Given the description of an element on the screen output the (x, y) to click on. 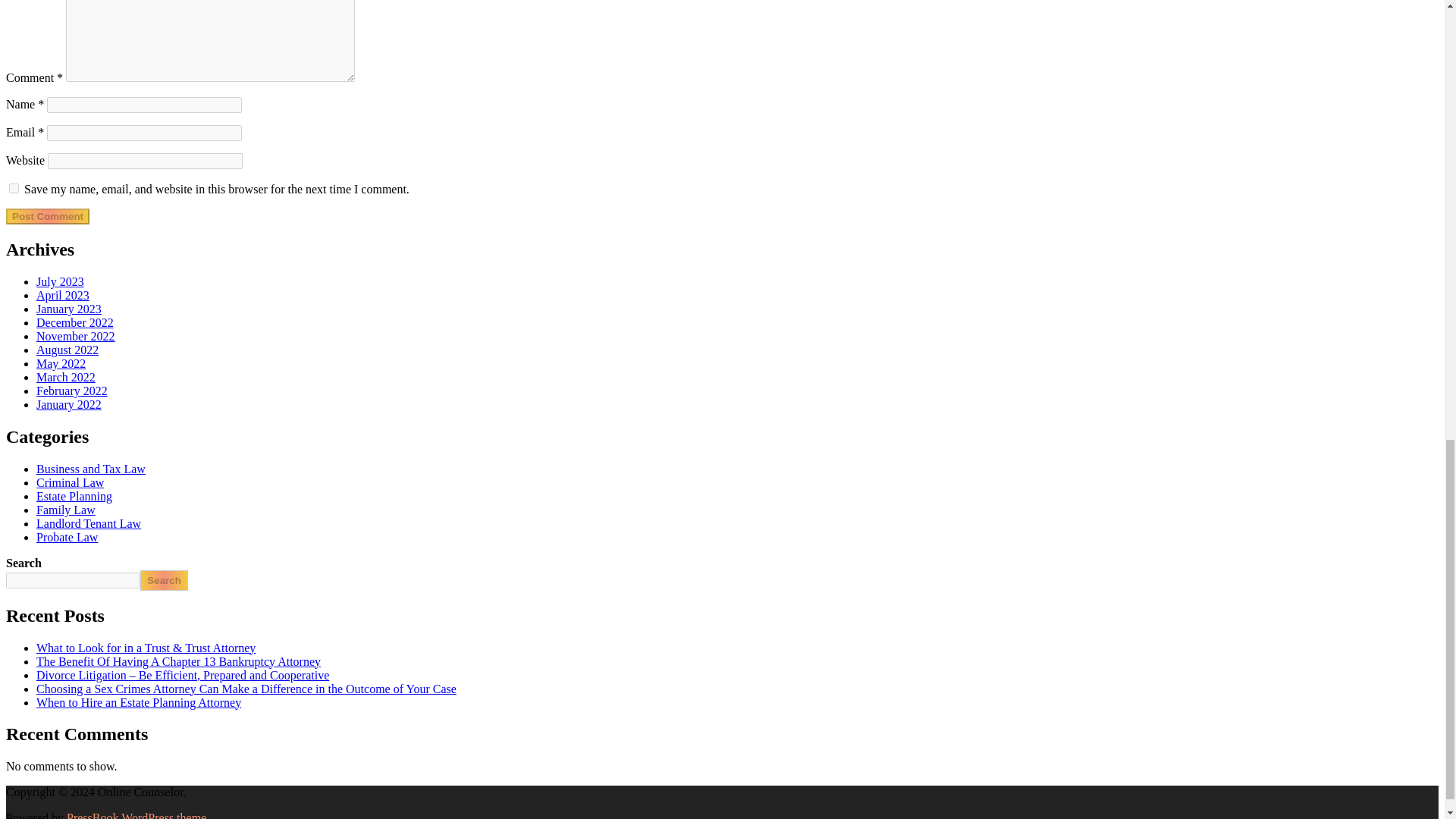
Family Law (66, 509)
Business and Tax Law (90, 468)
July 2023 (60, 281)
When to Hire an Estate Planning Attorney (138, 702)
Post Comment (46, 216)
December 2022 (74, 322)
Search (163, 580)
Post Comment (46, 216)
Probate Law (66, 536)
January 2023 (68, 308)
November 2022 (75, 336)
yes (13, 188)
Criminal Law (69, 481)
The Benefit Of Having A Chapter 13 Bankruptcy Attorney (178, 661)
